Given the description of an element on the screen output the (x, y) to click on. 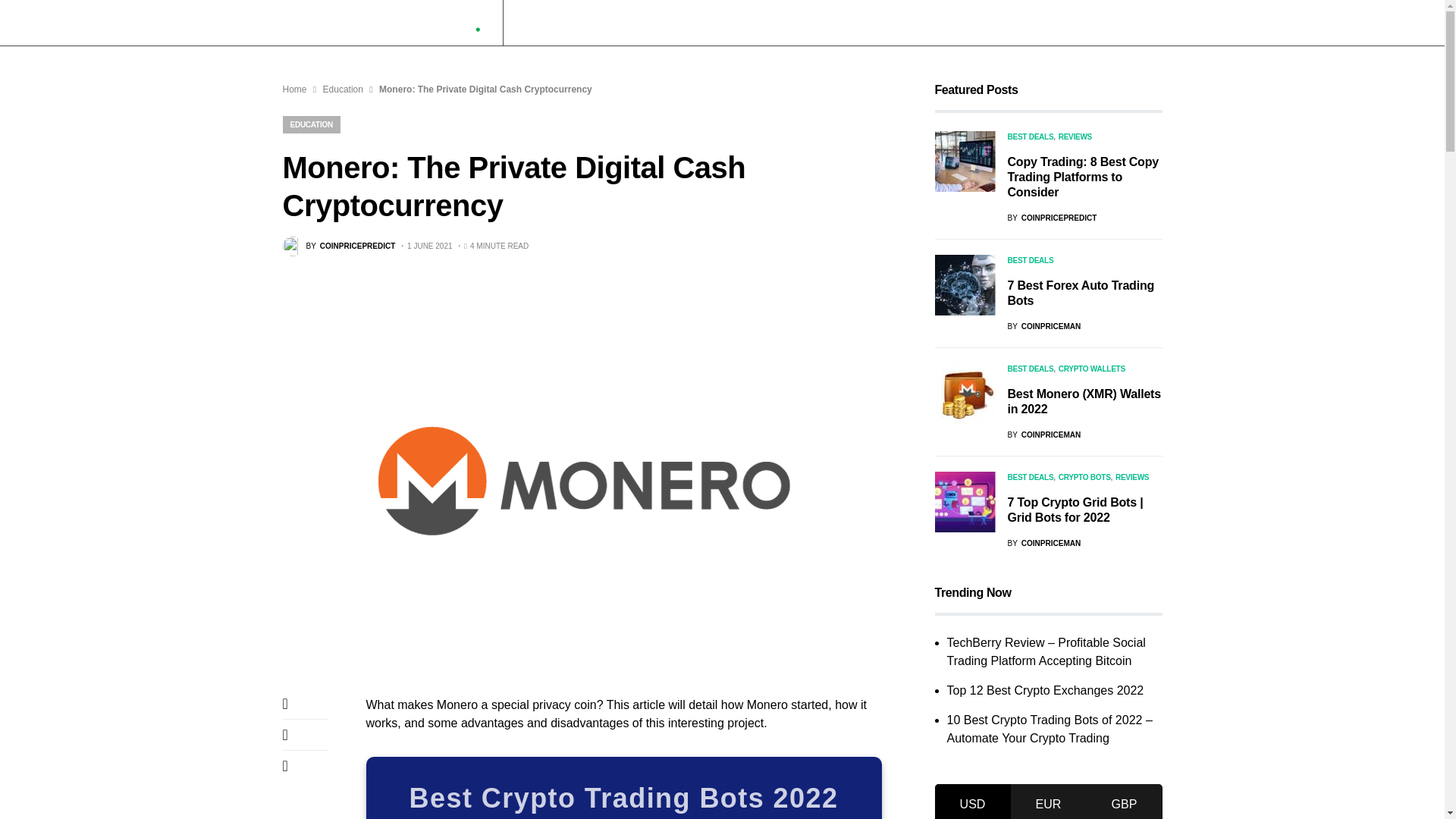
Crypto Bots (547, 22)
View all posts by coinpricepredict (1051, 217)
Best Deals (786, 22)
View all posts by coinpriceman (1043, 542)
View all posts by coinpriceman (1043, 326)
View all posts by coinpricepredict (338, 246)
Education (717, 22)
Forecast (612, 22)
View all posts by coinpriceman (1043, 434)
